Given the description of an element on the screen output the (x, y) to click on. 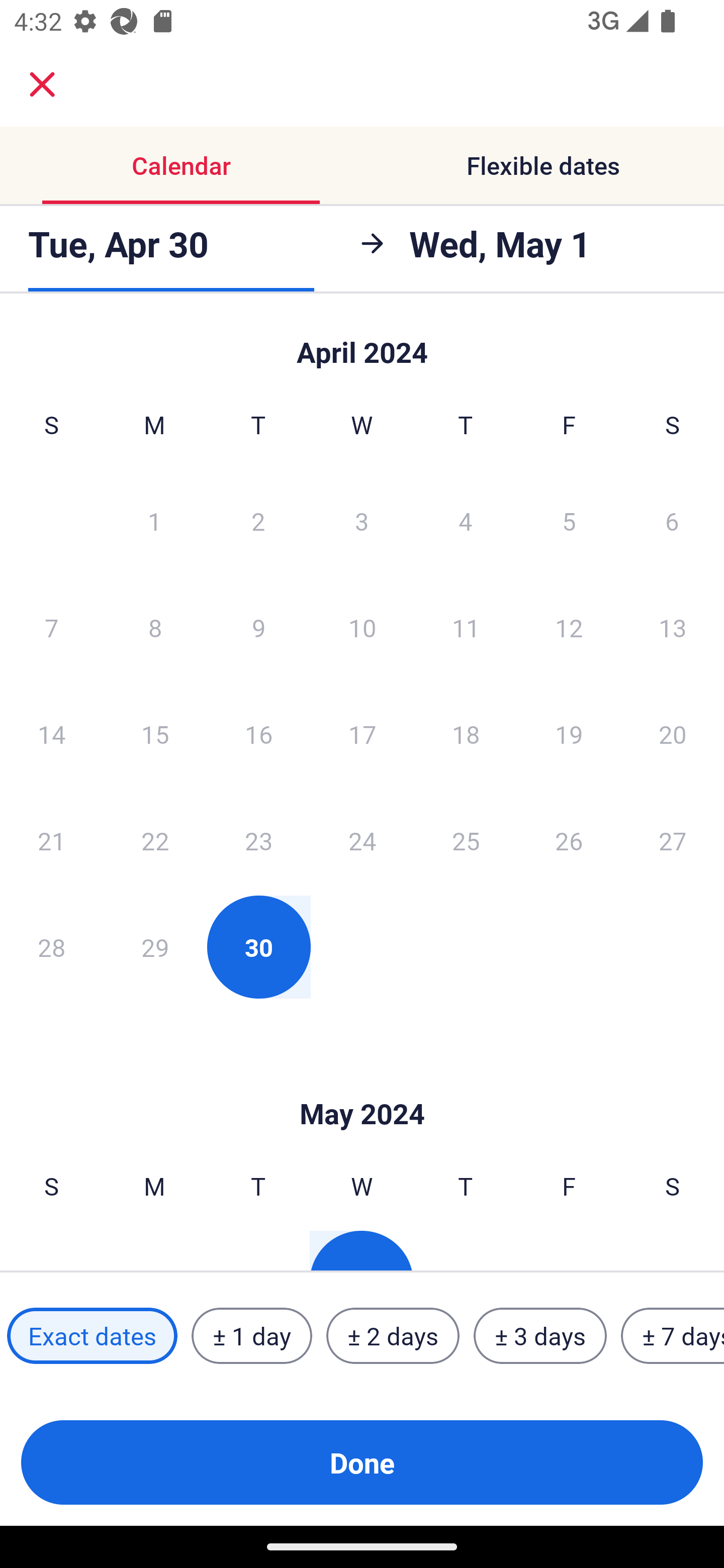
close. (42, 84)
Flexible dates (542, 164)
Skip to Done (362, 343)
1 Monday, April 1, 2024 (154, 520)
2 Tuesday, April 2, 2024 (257, 520)
3 Wednesday, April 3, 2024 (361, 520)
4 Thursday, April 4, 2024 (465, 520)
5 Friday, April 5, 2024 (568, 520)
6 Saturday, April 6, 2024 (672, 520)
7 Sunday, April 7, 2024 (51, 626)
8 Monday, April 8, 2024 (155, 626)
9 Tuesday, April 9, 2024 (258, 626)
10 Wednesday, April 10, 2024 (362, 626)
11 Thursday, April 11, 2024 (465, 626)
12 Friday, April 12, 2024 (569, 626)
13 Saturday, April 13, 2024 (672, 626)
14 Sunday, April 14, 2024 (51, 733)
15 Monday, April 15, 2024 (155, 733)
16 Tuesday, April 16, 2024 (258, 733)
17 Wednesday, April 17, 2024 (362, 733)
18 Thursday, April 18, 2024 (465, 733)
19 Friday, April 19, 2024 (569, 733)
20 Saturday, April 20, 2024 (672, 733)
21 Sunday, April 21, 2024 (51, 840)
22 Monday, April 22, 2024 (155, 840)
23 Tuesday, April 23, 2024 (258, 840)
24 Wednesday, April 24, 2024 (362, 840)
25 Thursday, April 25, 2024 (465, 840)
26 Friday, April 26, 2024 (569, 840)
27 Saturday, April 27, 2024 (672, 840)
28 Sunday, April 28, 2024 (51, 946)
29 Monday, April 29, 2024 (155, 946)
Skip to Done (362, 1083)
Exact dates (92, 1335)
± 1 day (251, 1335)
± 2 days (392, 1335)
± 3 days (539, 1335)
± 7 days (672, 1335)
Done (361, 1462)
